Given the description of an element on the screen output the (x, y) to click on. 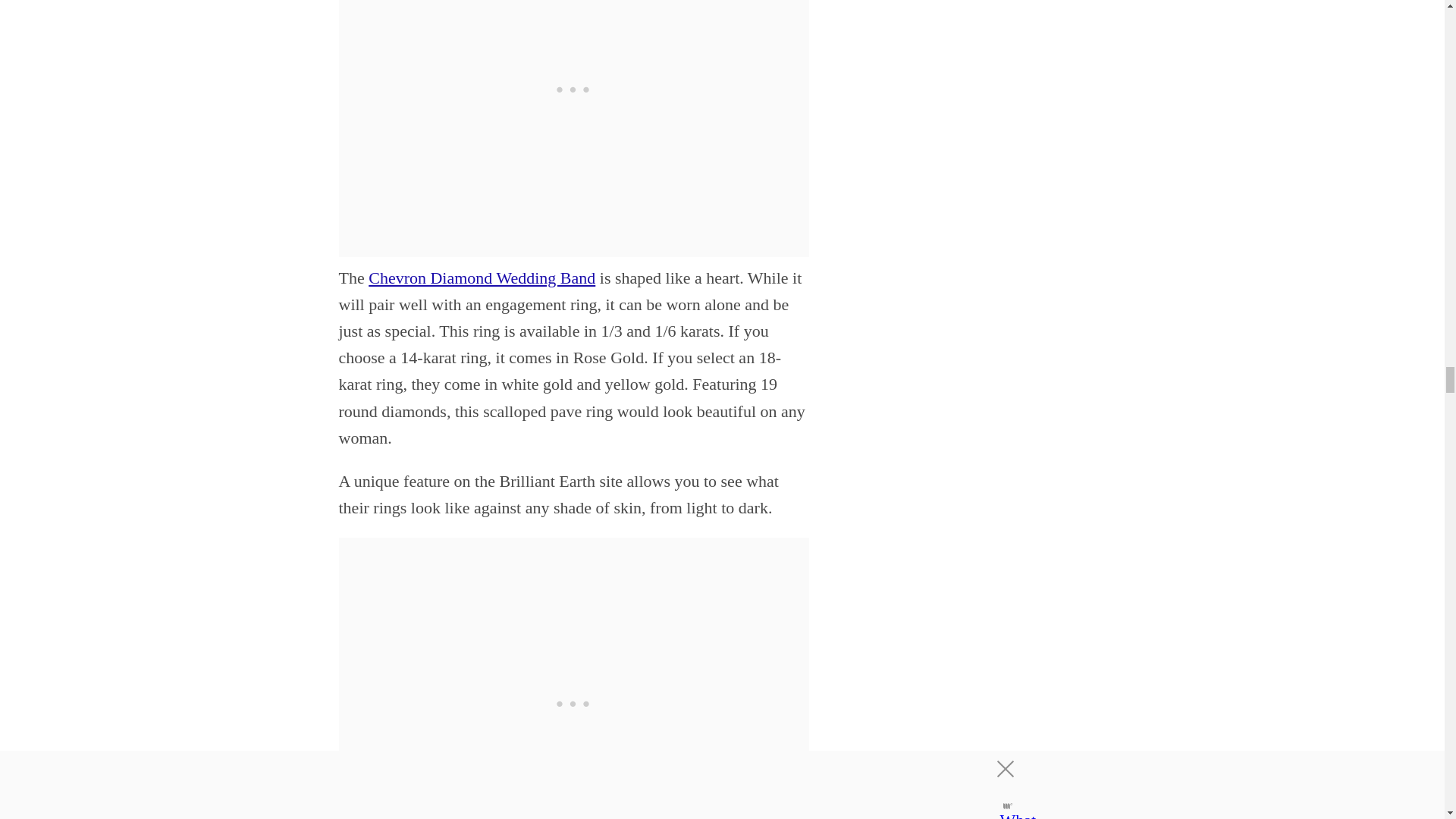
Chevron Diamond Wedding Band (481, 277)
